Given the description of an element on the screen output the (x, y) to click on. 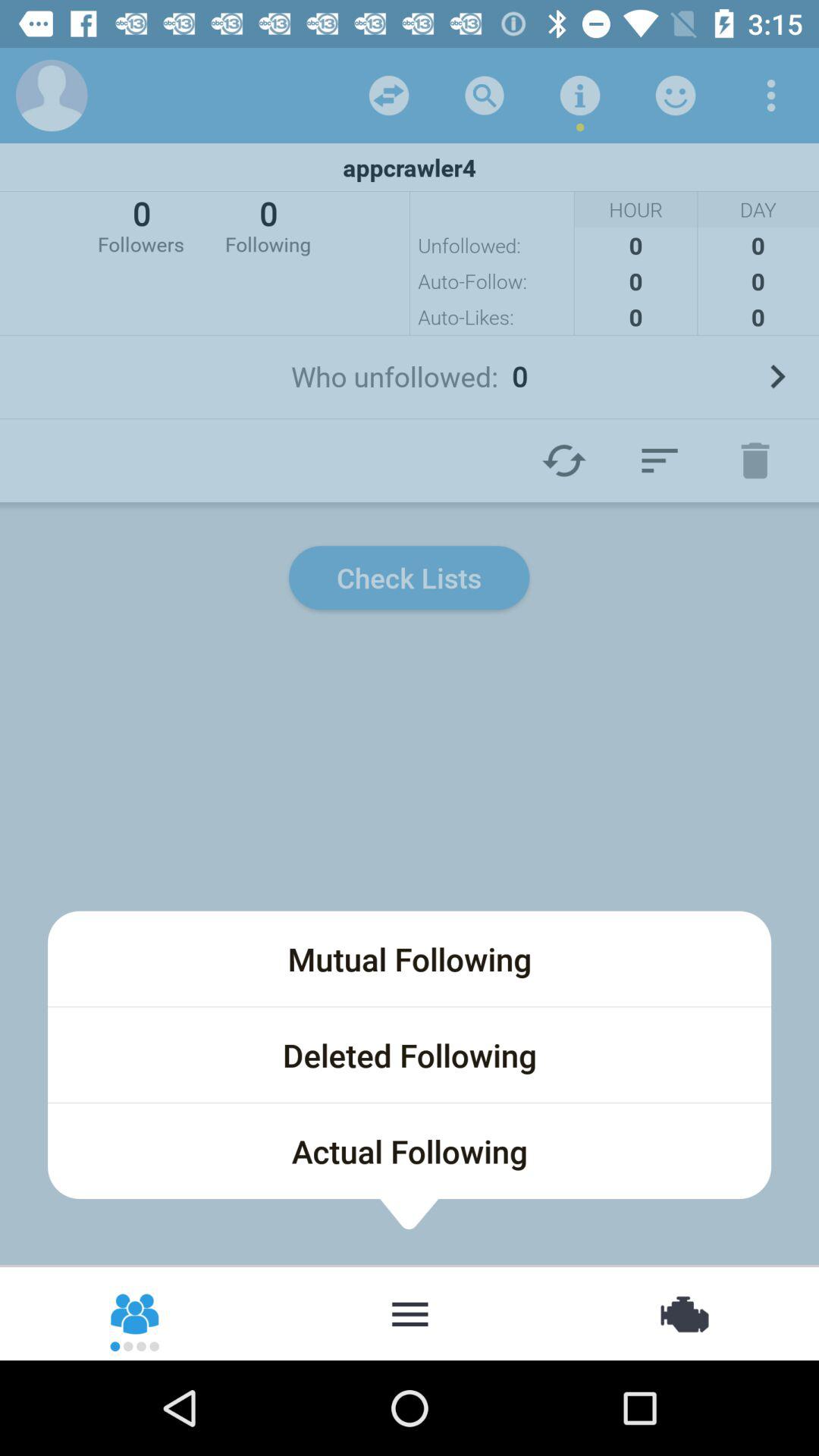
delete (755, 460)
